Given the description of an element on the screen output the (x, y) to click on. 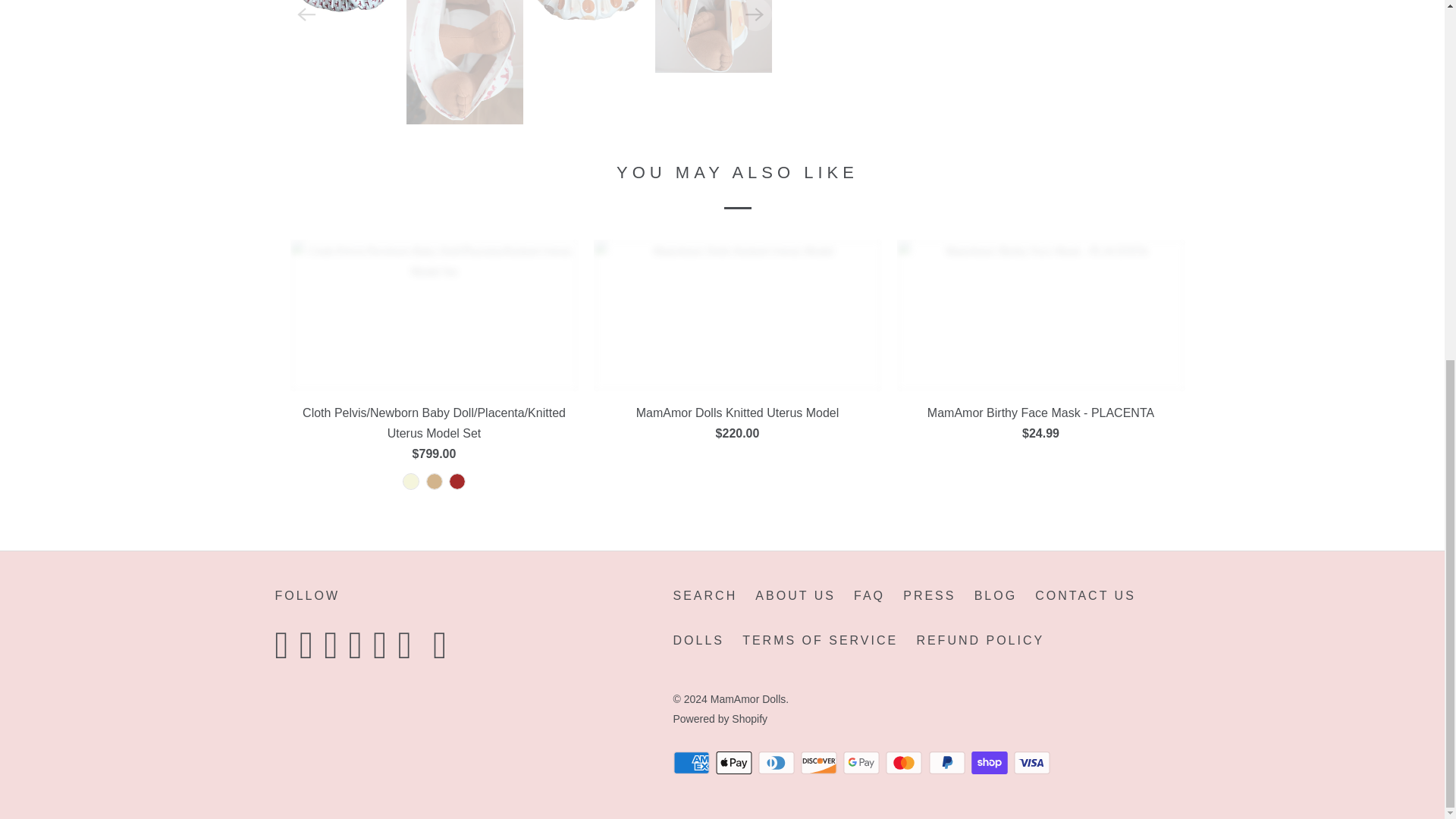
Visa (1032, 762)
Mastercard (904, 762)
Diners Club (777, 762)
Shop Pay (990, 762)
PayPal (948, 762)
American Express (692, 762)
Apple Pay (735, 762)
Discover (820, 762)
Google Pay (862, 762)
